Given the description of an element on the screen output the (x, y) to click on. 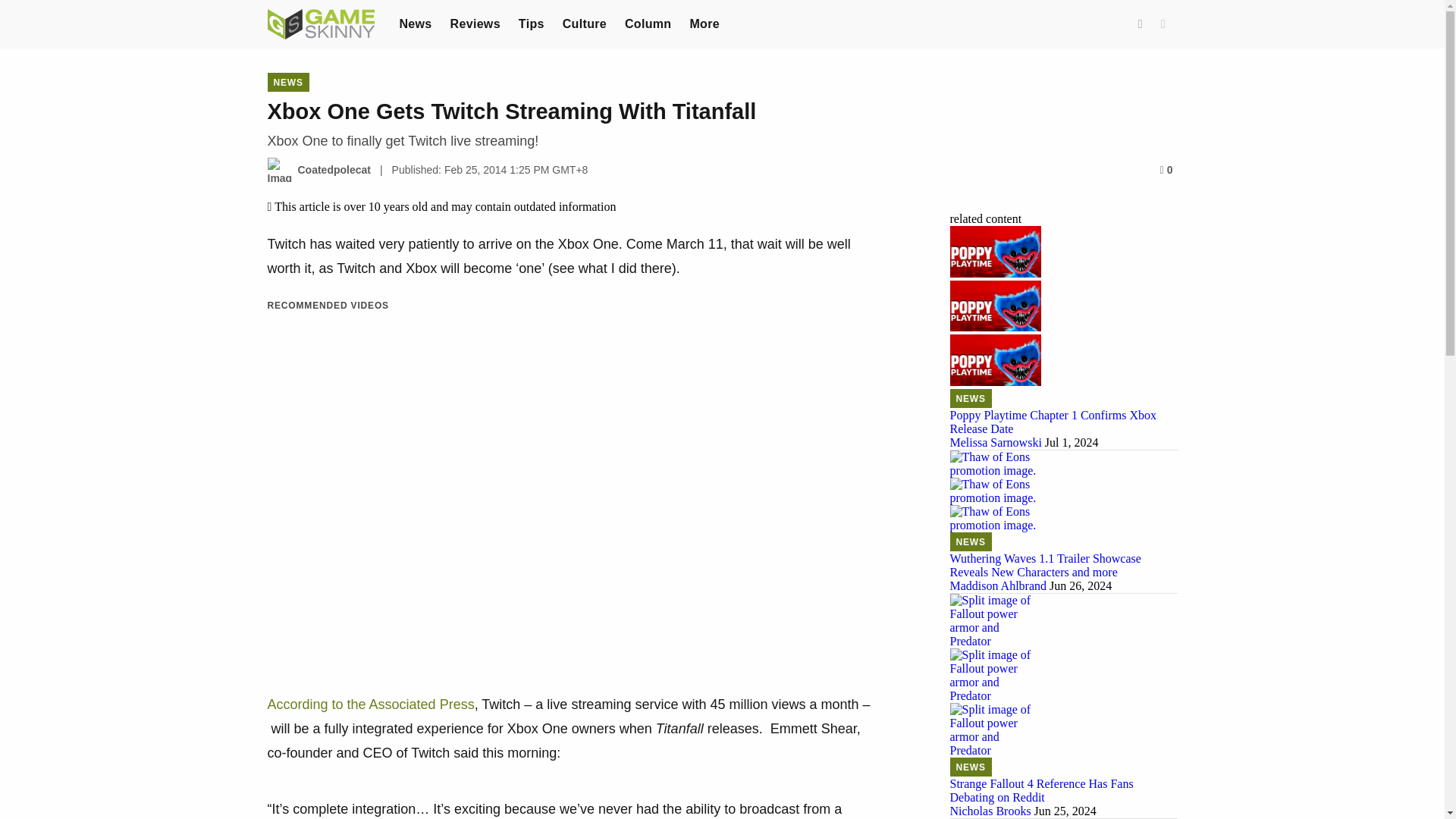
Column (647, 23)
Tips (531, 23)
Reviews (474, 23)
Culture (584, 23)
News (414, 23)
